Given the description of an element on the screen output the (x, y) to click on. 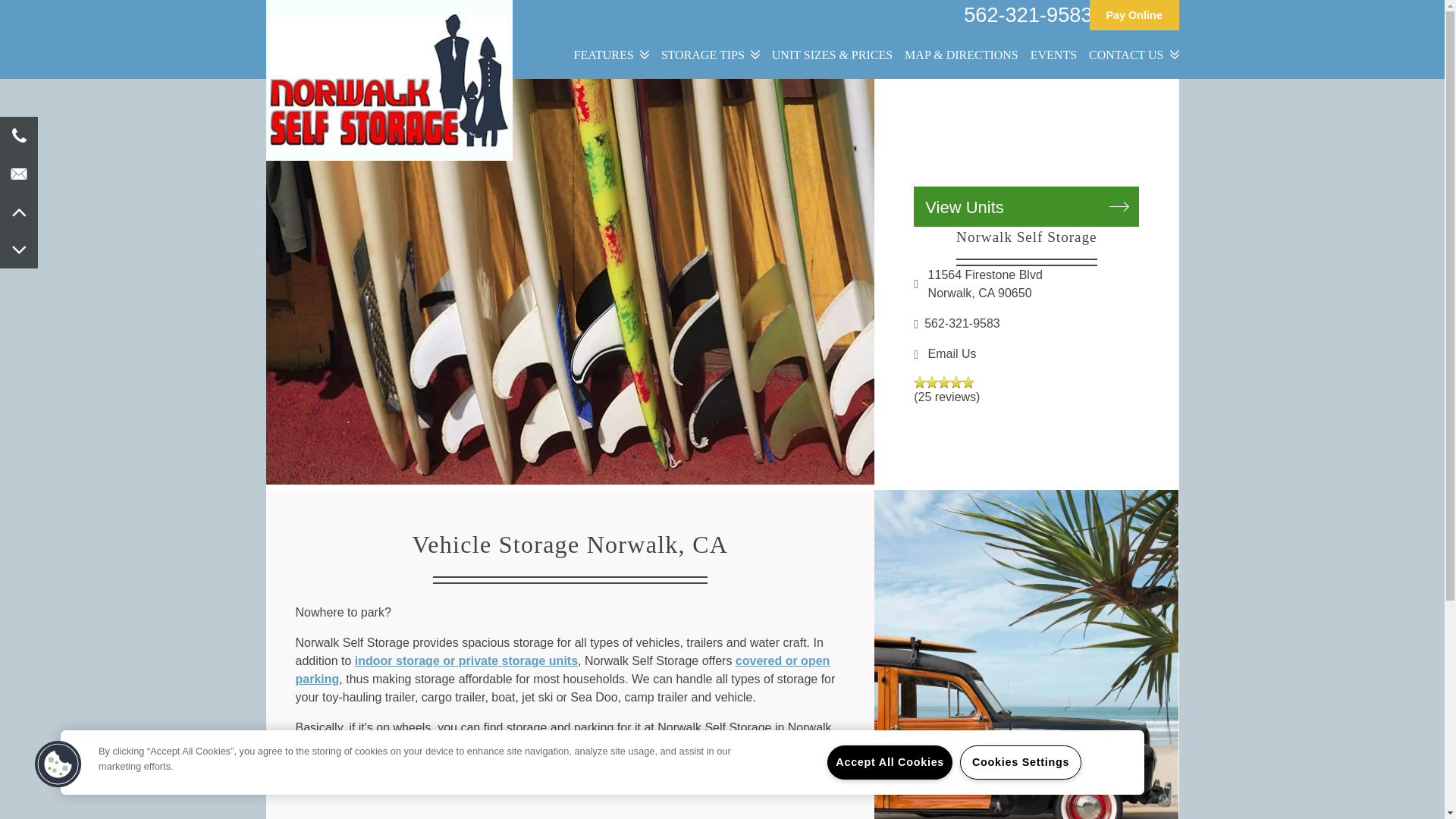
Email Us (952, 353)
Scroll Down (18, 249)
CONTACT US (1133, 56)
562-321-9583 (1026, 323)
indoor storage or private storage units (466, 660)
View Units (1026, 206)
covered or open parking (562, 669)
STORAGE TIPS (710, 56)
Cookies Button (57, 764)
Email (18, 173)
Pay Online (1134, 14)
Phone Number (18, 135)
EVENTS (1053, 56)
FEATURES (611, 56)
Property Phone Number (1027, 15)
